Given the description of an element on the screen output the (x, y) to click on. 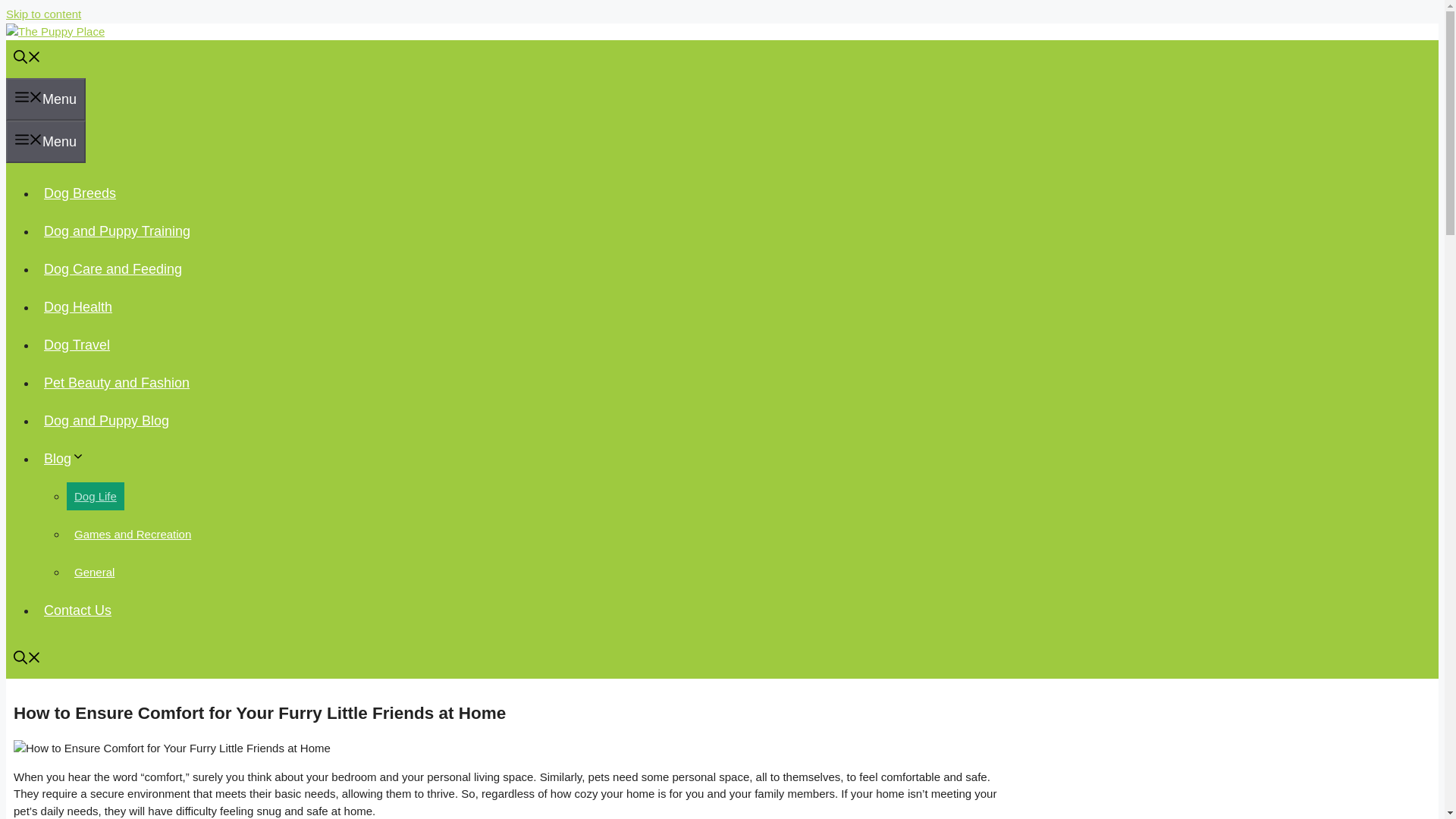
Menu (45, 141)
Contact Us (77, 610)
Dog and Puppy Training (117, 231)
Dog Care and Feeding (112, 268)
Pet Beauty and Fashion (116, 382)
Games and Recreation (132, 533)
Menu (45, 98)
General (94, 571)
Skip to content (43, 13)
Skip to content (43, 13)
Dog Travel (76, 344)
Blog (68, 458)
Dog Breeds (79, 192)
Dog and Puppy Blog (106, 420)
Dog Health (77, 306)
